Given the description of an element on the screen output the (x, y) to click on. 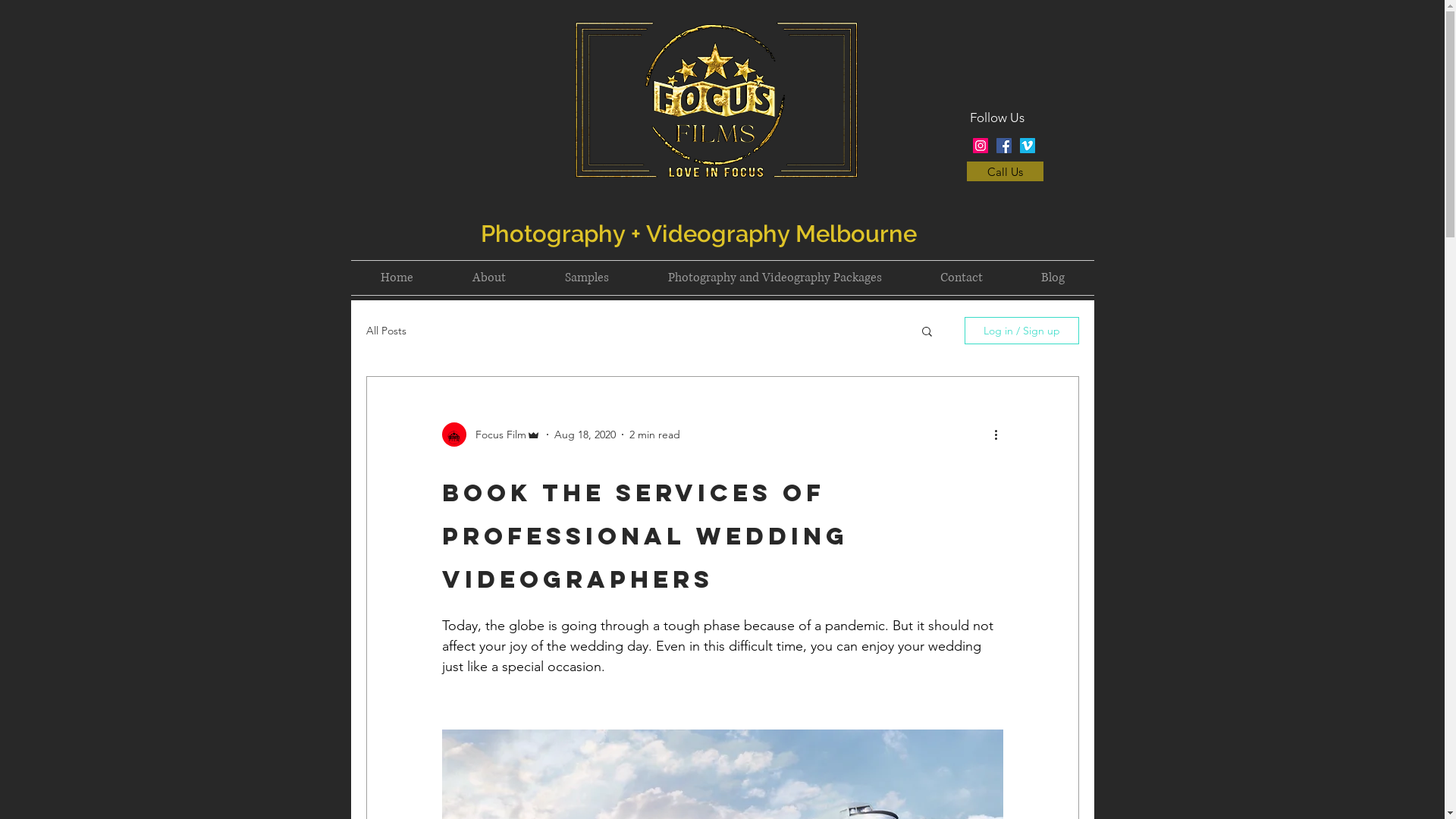
Contact Element type: text (961, 277)
Blog Element type: text (1052, 277)
Log in / Sign up Element type: text (1021, 330)
Call Us Element type: text (1004, 171)
Home Element type: text (396, 277)
All Posts Element type: text (385, 330)
About Element type: text (488, 277)
Samples Element type: text (586, 277)
Photography + Videography Melbourne Element type: text (698, 231)
Photography and Videography Packages Element type: text (774, 277)
